Given the description of an element on the screen output the (x, y) to click on. 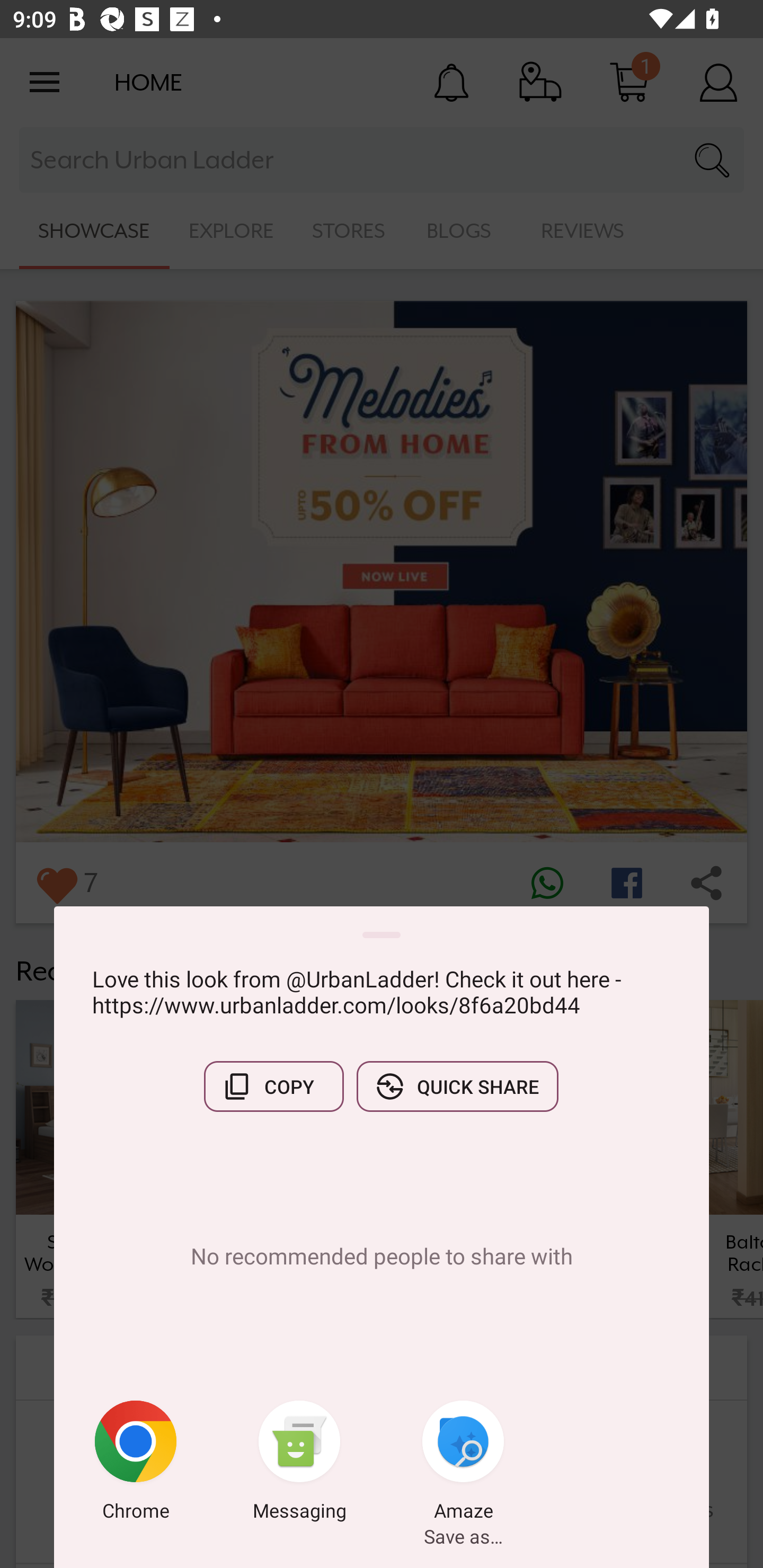
COPY (273, 1086)
QUICK SHARE (457, 1086)
Chrome (135, 1463)
Messaging (299, 1463)
Amaze Save as… (463, 1463)
